Given the description of an element on the screen output the (x, y) to click on. 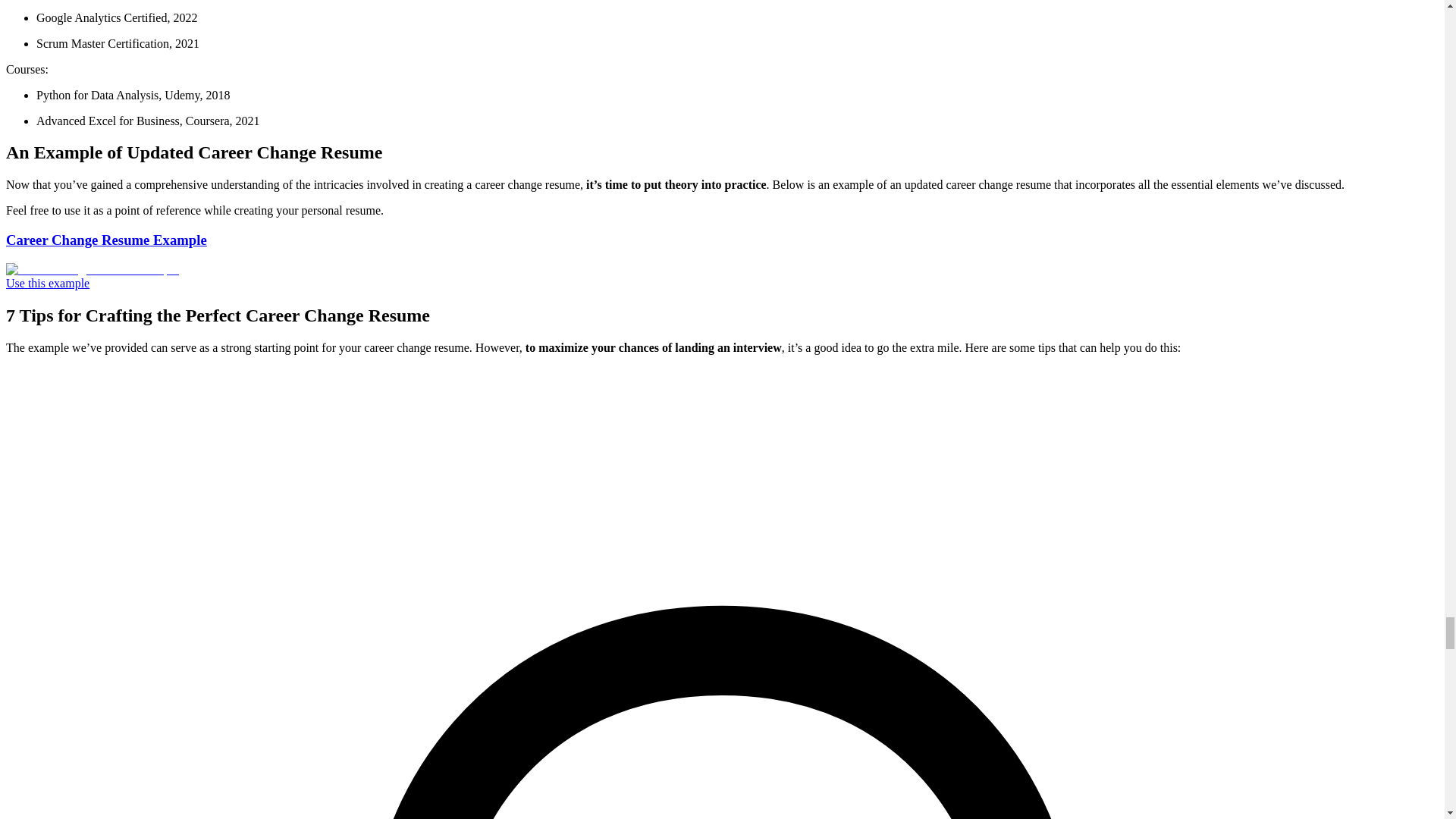
Use this example (46, 282)
